Given the description of an element on the screen output the (x, y) to click on. 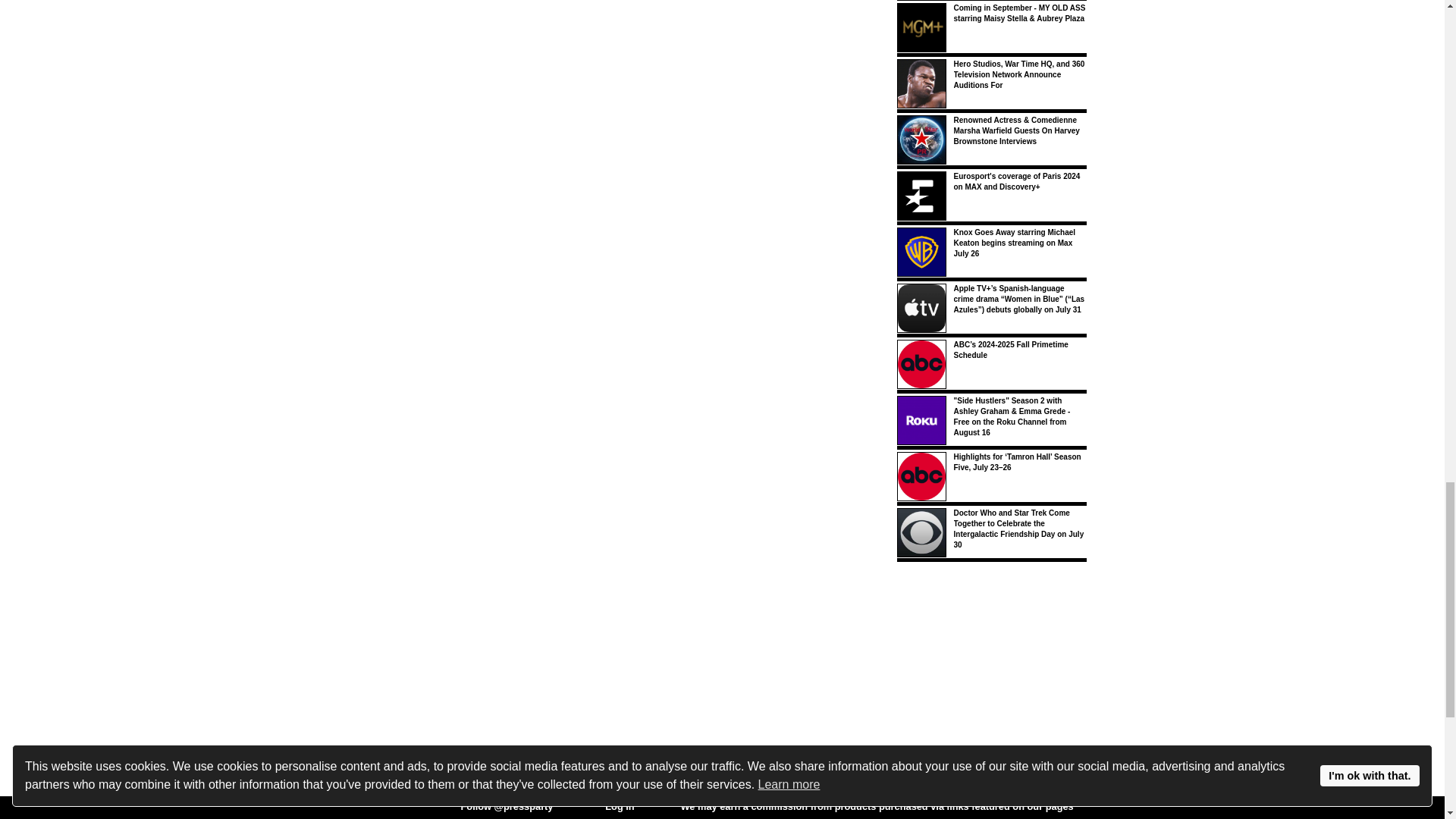
HGTV: Profile Page (591, 786)
153 Press Releases (588, 813)
